Given the description of an element on the screen output the (x, y) to click on. 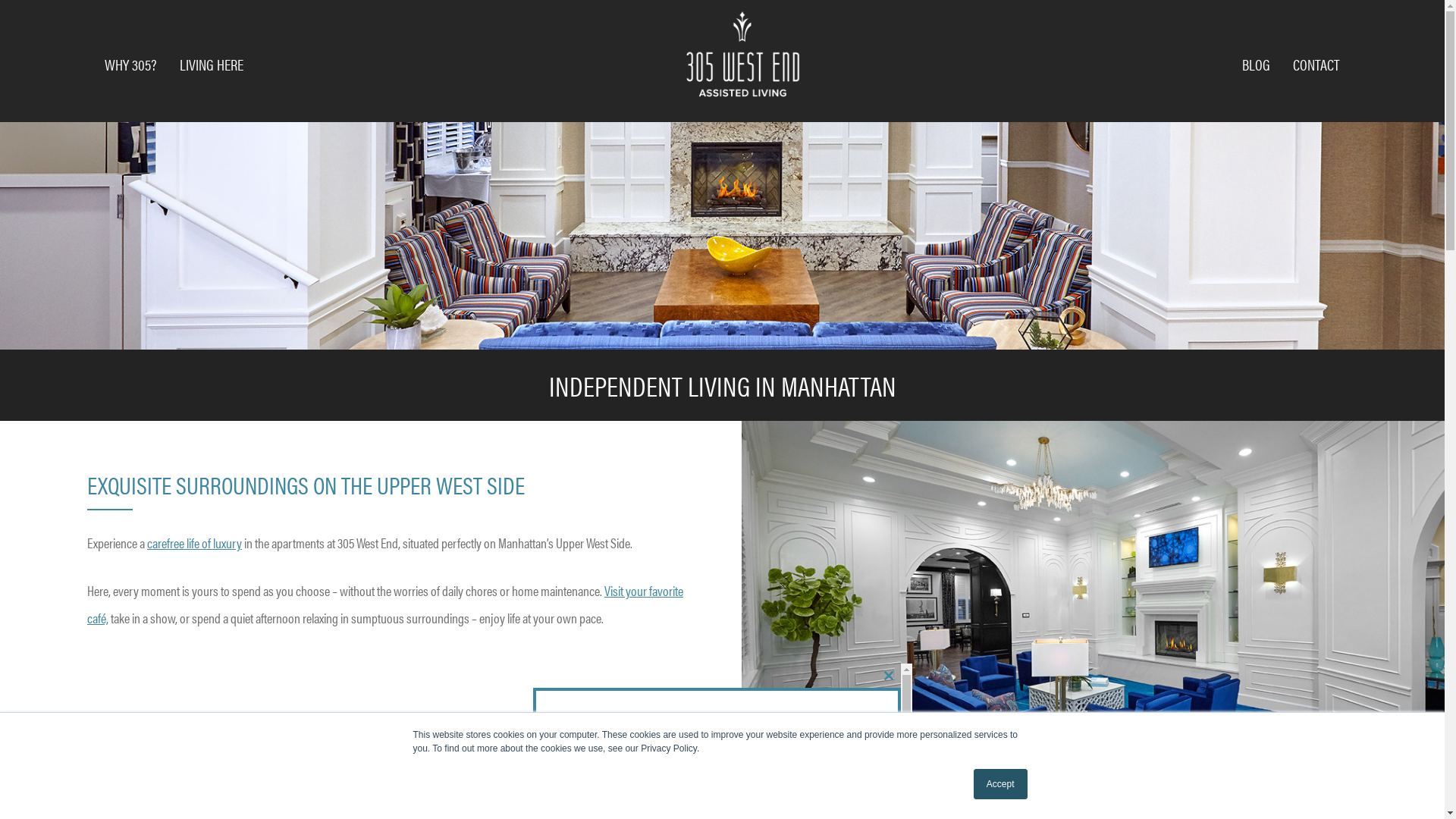
Close this module Element type: text (888, 675)
Accept Element type: text (1000, 783)
CONTACT Element type: text (1316, 64)
REQUEST A BROCHURE Element type: text (620, 797)
WHY 305? Element type: text (130, 64)
LIVING HERE Element type: text (211, 64)
carefree life of luxury Element type: text (194, 542)
BLOG Element type: text (1255, 64)
